Given the description of an element on the screen output the (x, y) to click on. 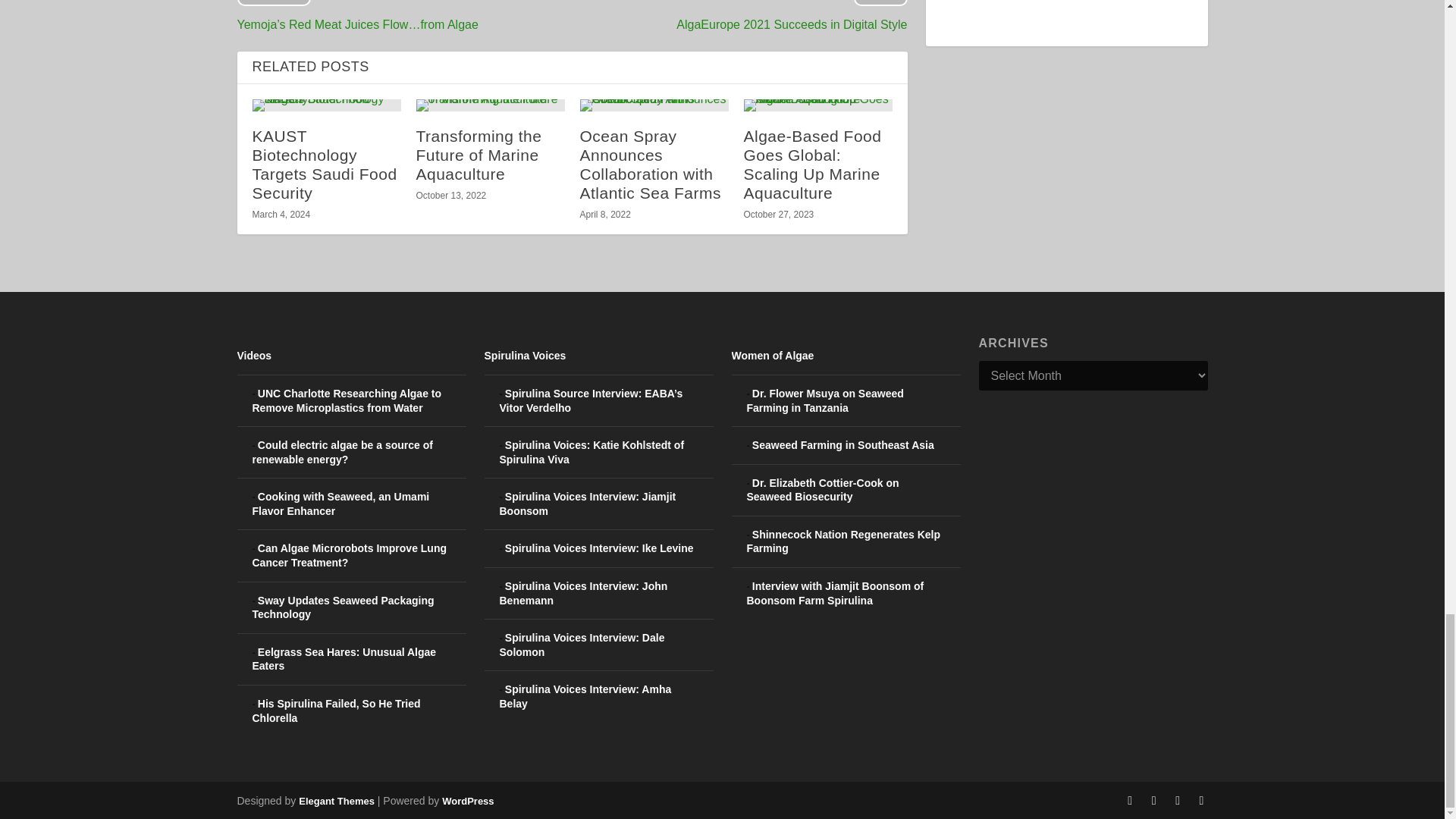
Transforming the Future of Marine Aquaculture (489, 105)
KAUST Biotechnology Targets Saudi Food Security (325, 105)
Ocean Spray Announces Collaboration with Atlantic Sea Farms (653, 105)
